Given the description of an element on the screen output the (x, y) to click on. 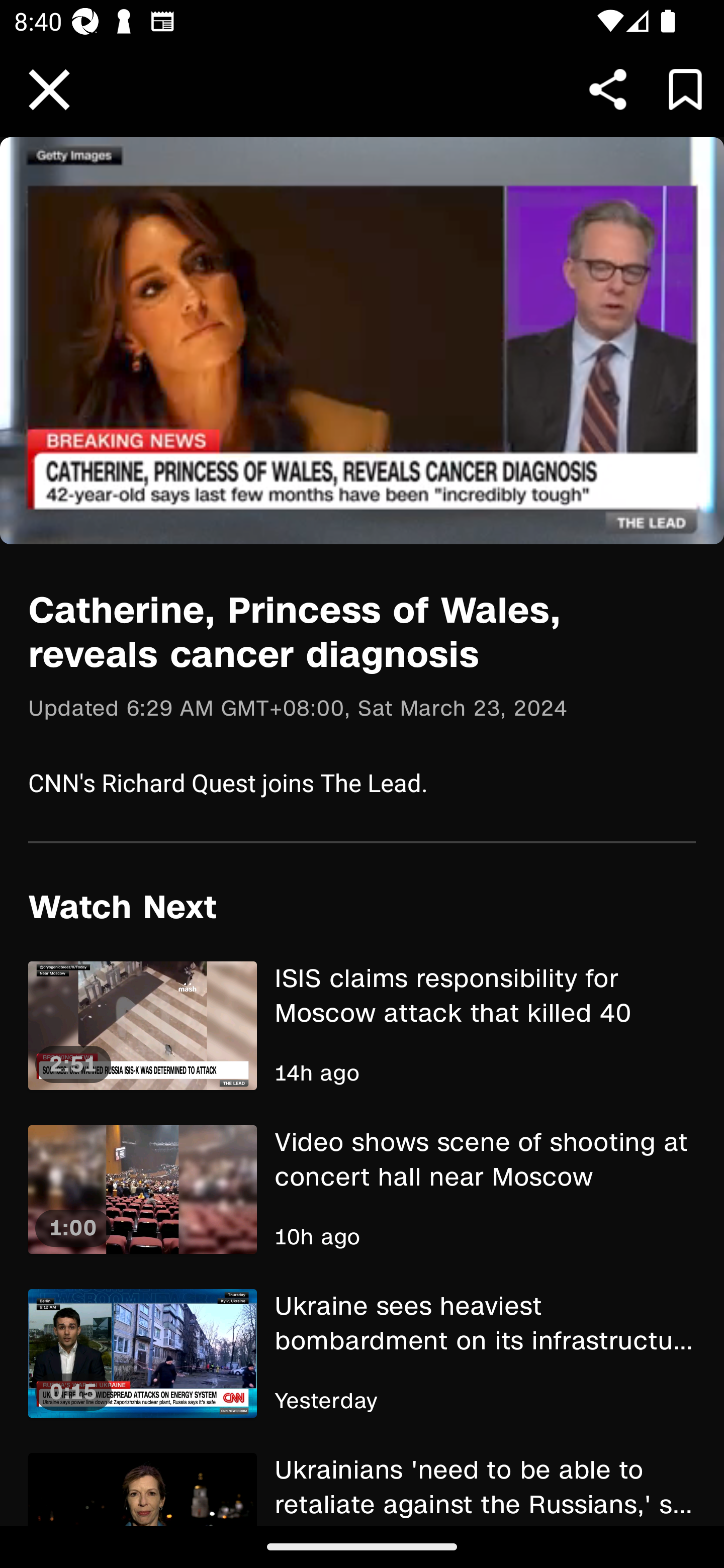
Close (48, 89)
Share (607, 89)
Bookmark (685, 89)
CNN's Richard Quest joins The Lead. (362, 782)
